Given the description of an element on the screen output the (x, y) to click on. 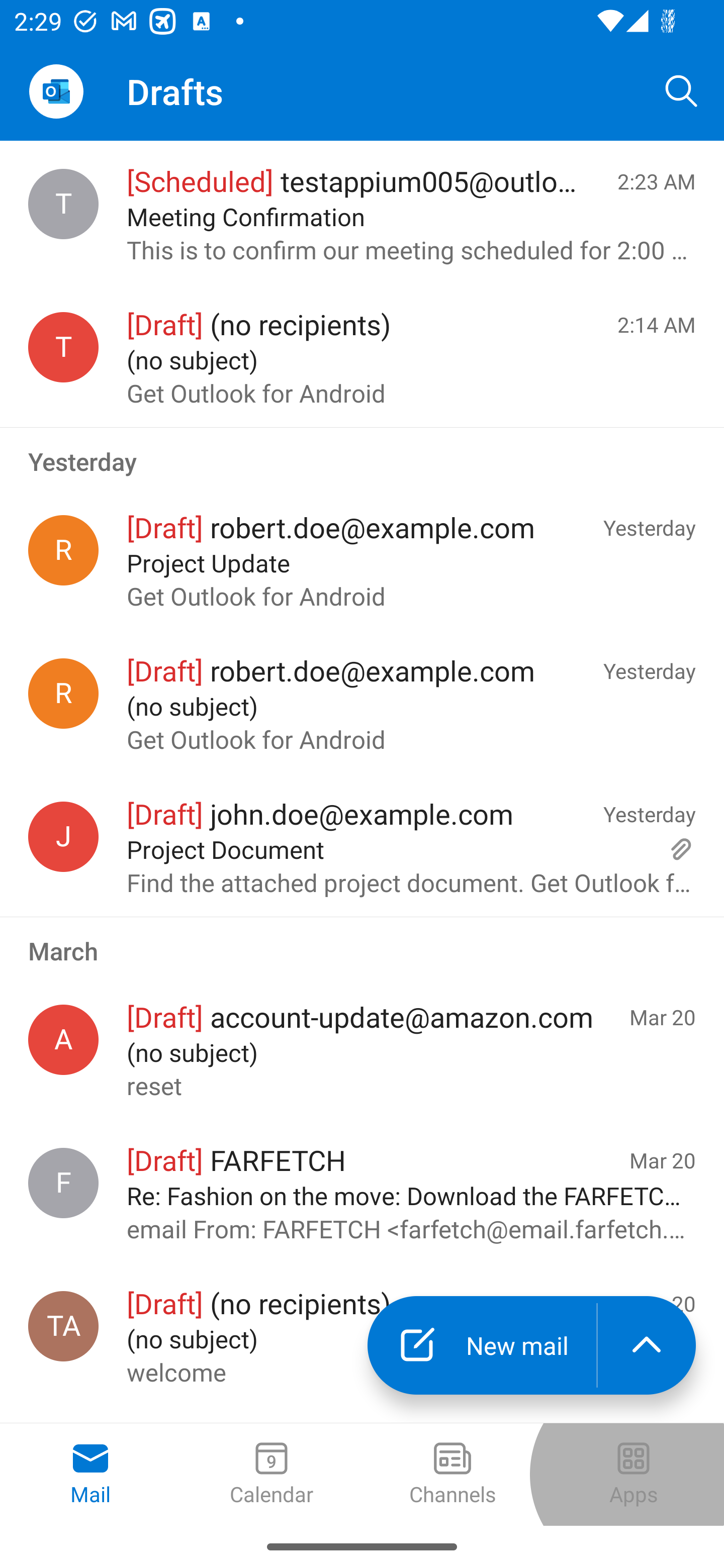
Search, ,  (681, 90)
Open Navigation Drawer (55, 91)
testappium002@outlook.com (63, 347)
robert.doe@example.com, testappium002@outlook.com (63, 549)
robert.doe@example.com, testappium002@outlook.com (63, 693)
john.doe@example.com, testappium002@outlook.com (63, 836)
account-update@amazon.com (63, 1040)
FARFETCH, testappium002@outlook.com (63, 1182)
Test Appium, testappium002@outlook.com (63, 1325)
New mail (481, 1344)
launch the extended action menu (646, 1344)
